Given the description of an element on the screen output the (x, y) to click on. 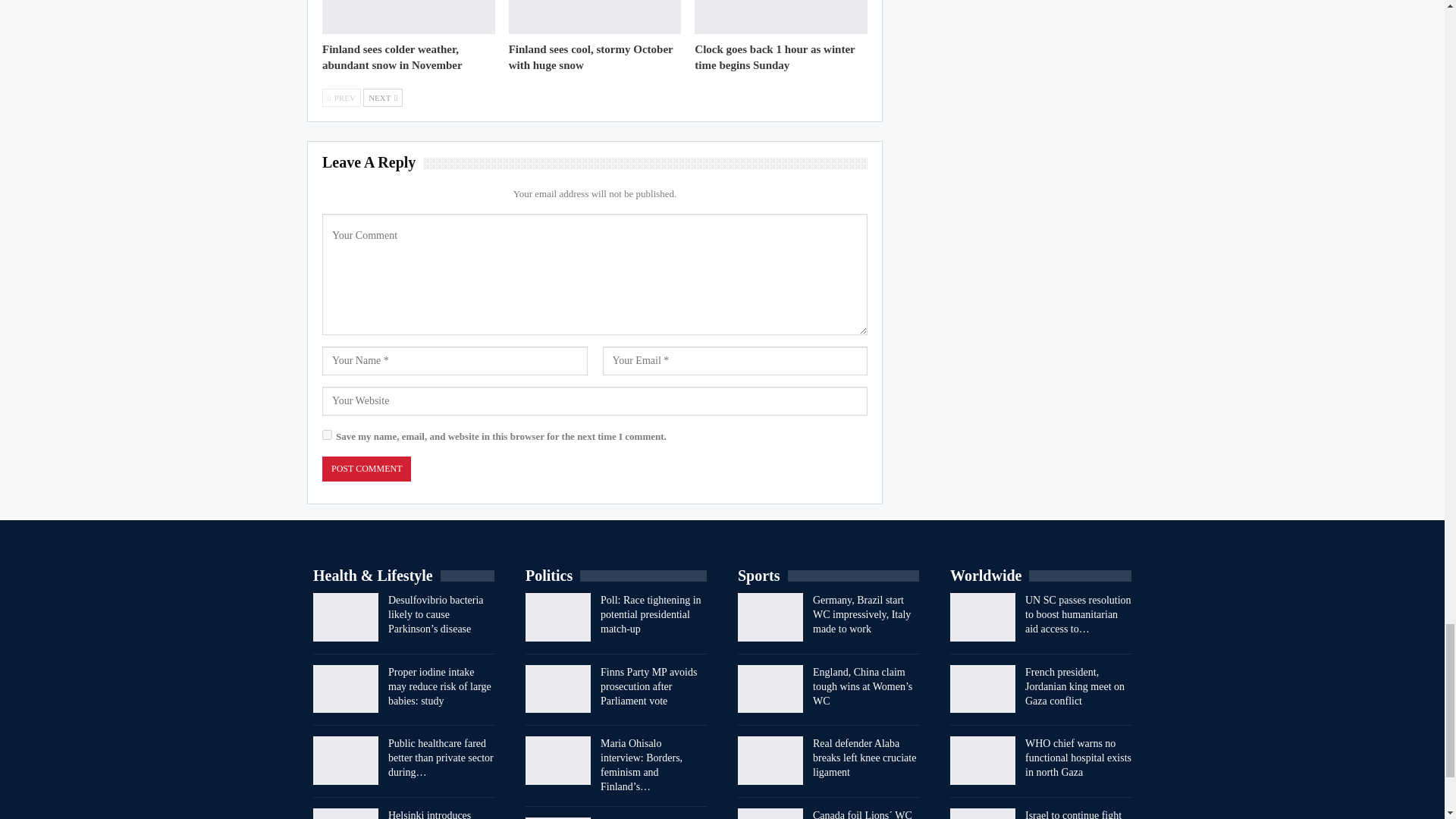
Clock goes back 1 hour as winter time begins Sunday (780, 17)
Finland sees cool, stormy October with huge snow (594, 17)
Previous (341, 97)
Next (382, 97)
yes (326, 434)
Post Comment (365, 468)
Finland sees cool, stormy October with huge snow (590, 57)
Finland sees colder weather, abundant snow in November (408, 17)
Clock goes back 1 hour as winter time begins Sunday (774, 57)
Finland sees colder weather, abundant snow in November (392, 57)
